Given the description of an element on the screen output the (x, y) to click on. 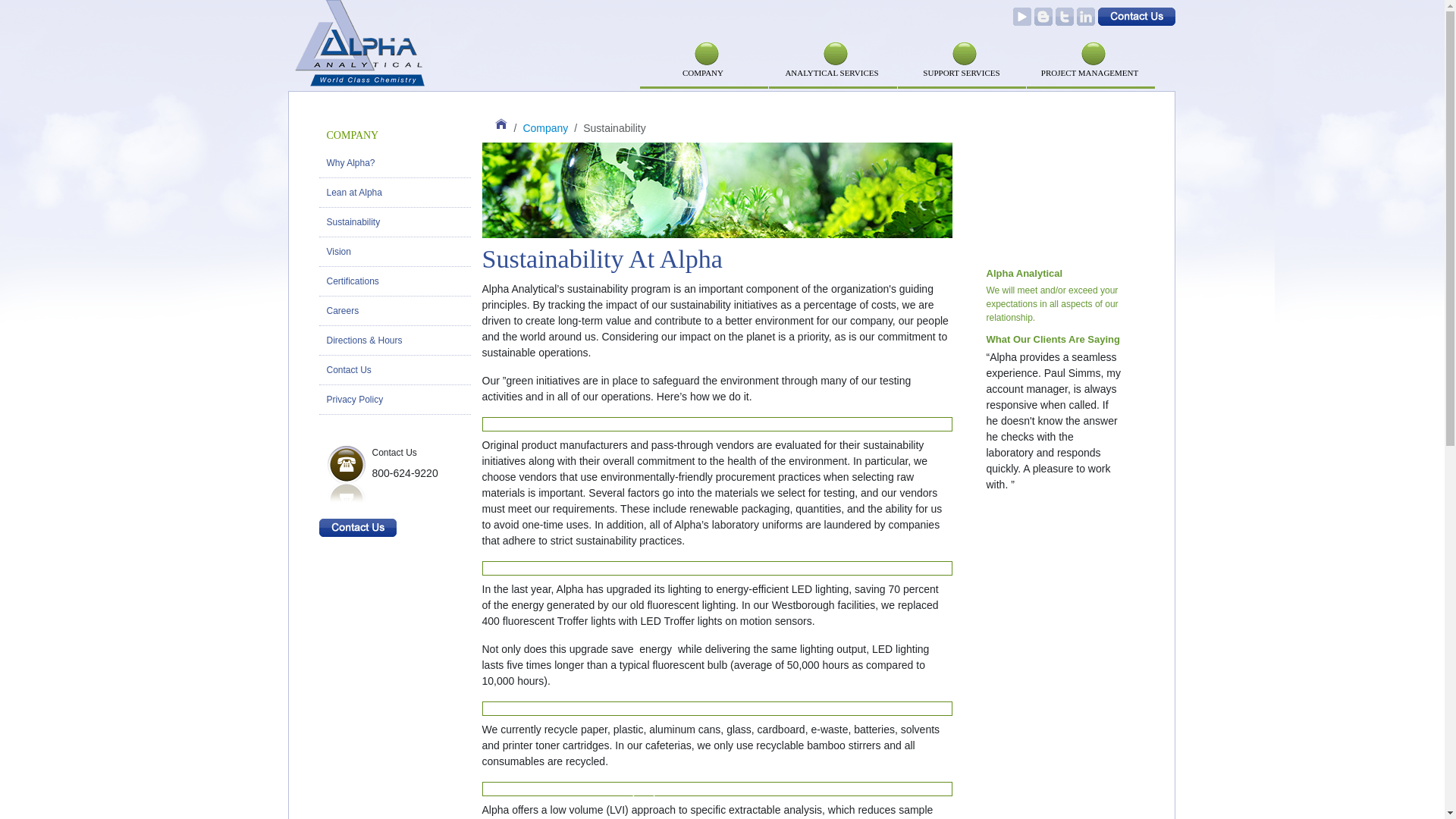
Sustainability at Alpha (716, 190)
ANALYTICAL SERVICES (831, 40)
COMPANY (703, 40)
